Given the description of an element on the screen output the (x, y) to click on. 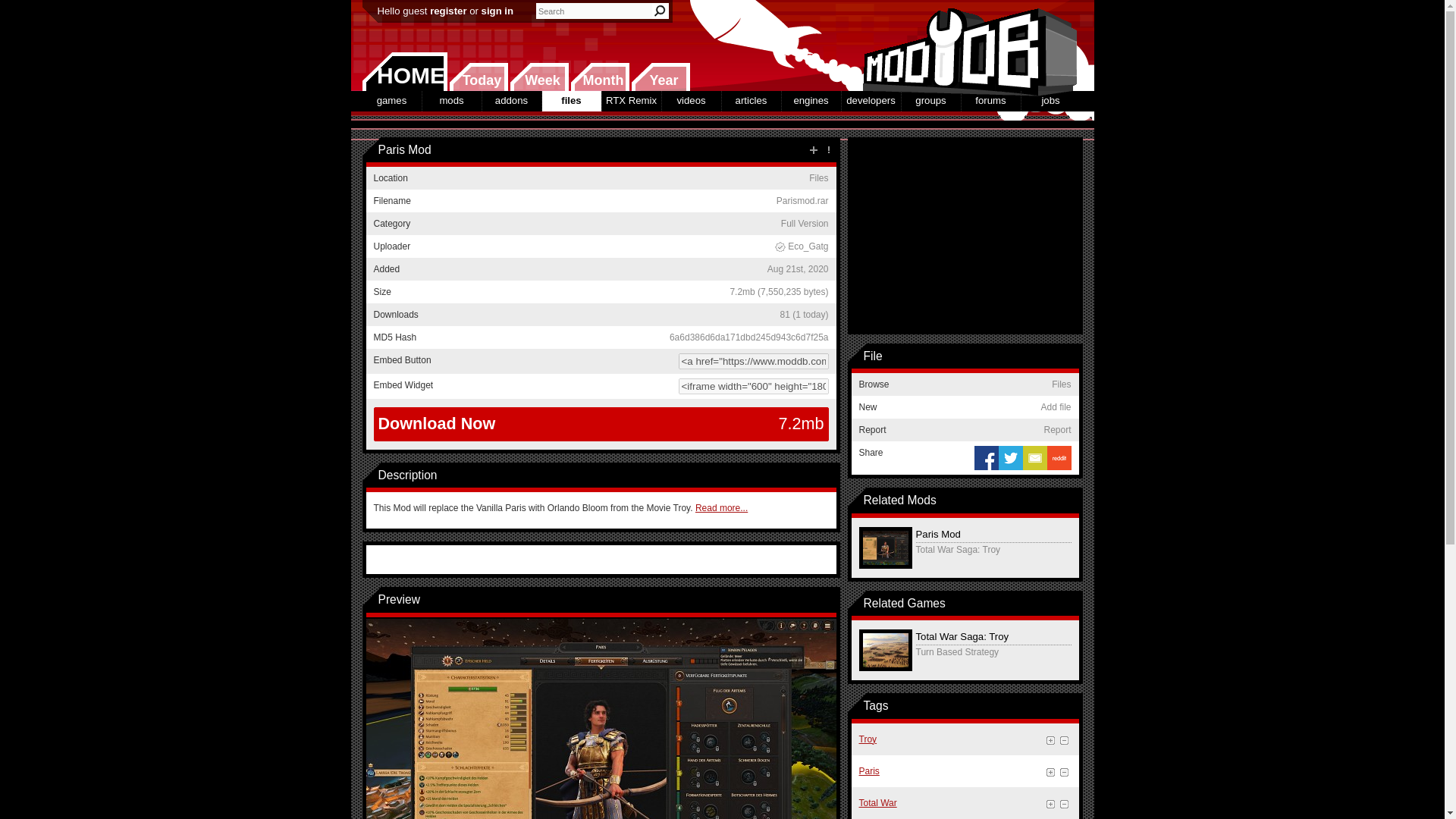
New this year (660, 76)
Search ModDB (660, 10)
Month (599, 76)
Add file (813, 150)
ModDB Home (965, 45)
Embed the file using this HTML (600, 385)
games (392, 100)
RTX Remix (631, 100)
addons (511, 100)
files (570, 100)
Paris Mod Statistics (803, 314)
Search (660, 10)
Report (828, 150)
New this month (599, 76)
